Given the description of an element on the screen output the (x, y) to click on. 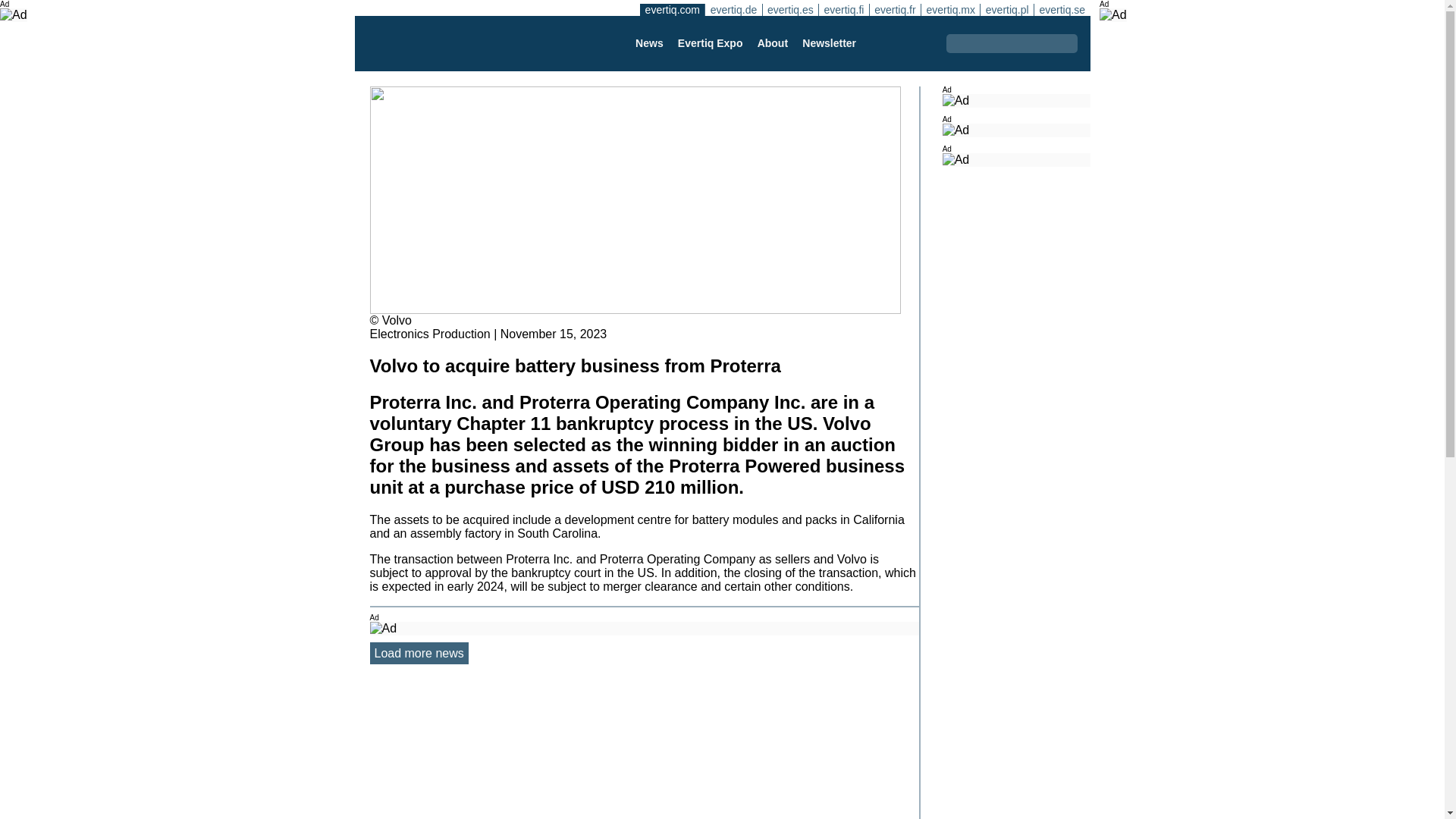
evertiq.pl (1006, 9)
evertiq.de (732, 9)
evertiq.es (789, 9)
About (771, 43)
Newsletter (828, 43)
Evertiq AB (442, 43)
Evertiq Expo (709, 43)
evertiq.mx (949, 9)
evertiq.se (1061, 9)
News (648, 43)
